Given the description of an element on the screen output the (x, y) to click on. 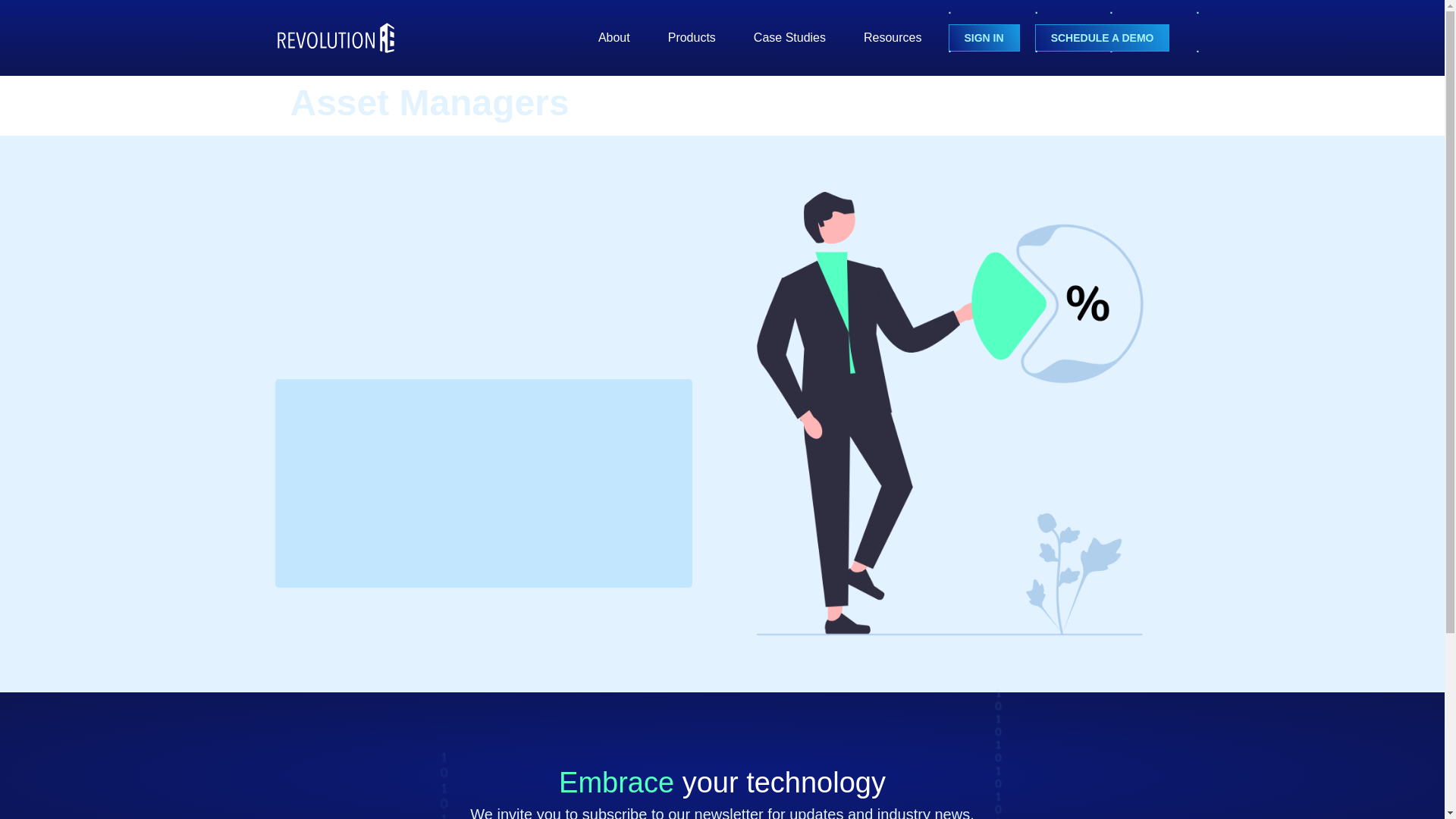
Case Studies (789, 37)
About (614, 37)
Products (692, 37)
SIGN IN (983, 37)
SCHEDULE A DEMO (1102, 37)
Resources (892, 37)
